Given the description of an element on the screen output the (x, y) to click on. 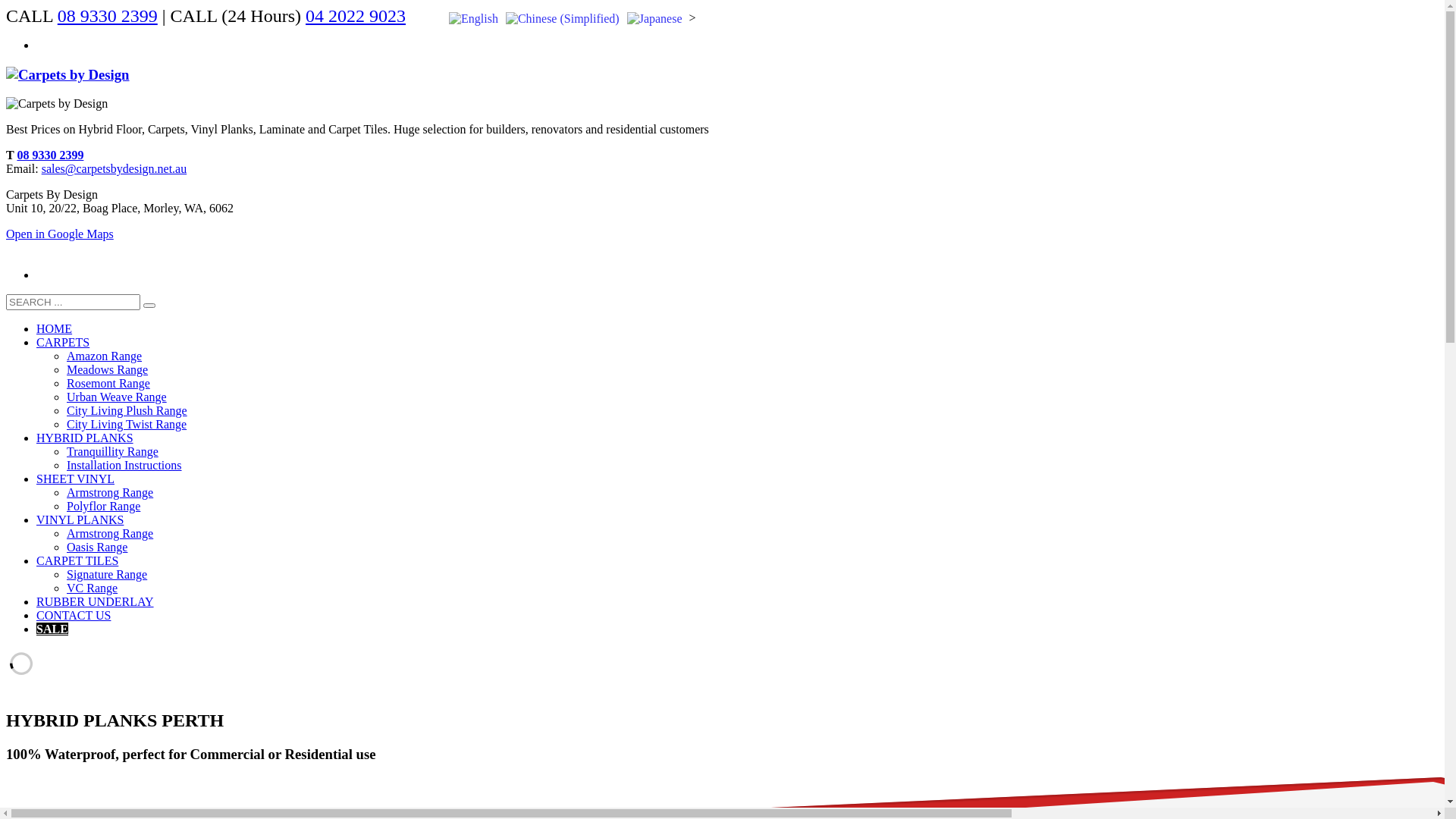
CARPET TILES Element type: text (77, 560)
Japanese Element type: hover (654, 17)
Urban Weave Range Element type: text (116, 396)
VC Range Element type: text (91, 587)
VINYL PLANKS Element type: text (79, 519)
SALE Element type: text (52, 628)
HYBRID PLANKS Element type: text (84, 437)
sales@carpetsbydesign.net.au Element type: text (114, 168)
Amazon Range Element type: text (103, 355)
go Element type: text (149, 305)
Armstrong Range Element type: text (109, 492)
CONTACT US Element type: text (73, 614)
SHEET VINYL Element type: text (75, 478)
04 2022 9023 Element type: text (355, 15)
English Element type: hover (473, 17)
Open in Google Maps Element type: text (59, 233)
Meadows Range Element type: text (106, 369)
CARPETS Element type: text (62, 341)
Signature Range Element type: text (106, 573)
City Living Twist Range Element type: text (126, 423)
Quality Carpets and Flooring at Warehouse Prices. Element type: hover (67, 74)
City Living Plush Range Element type: text (126, 410)
Chinese (Simplified) Element type: hover (562, 17)
Rosemont Range Element type: text (108, 382)
RUBBER UNDERLAY Element type: text (94, 601)
Tranquillity Range Element type: text (112, 451)
Installation Instructions Element type: text (124, 464)
Armstrong Range Element type: text (109, 533)
Polyflor Range Element type: text (103, 505)
Oasis Range Element type: text (96, 546)
HOME Element type: text (54, 328)
08 9330 2399 Element type: text (107, 15)
08 9330 2399 Element type: text (49, 154)
